Given the description of an element on the screen output the (x, y) to click on. 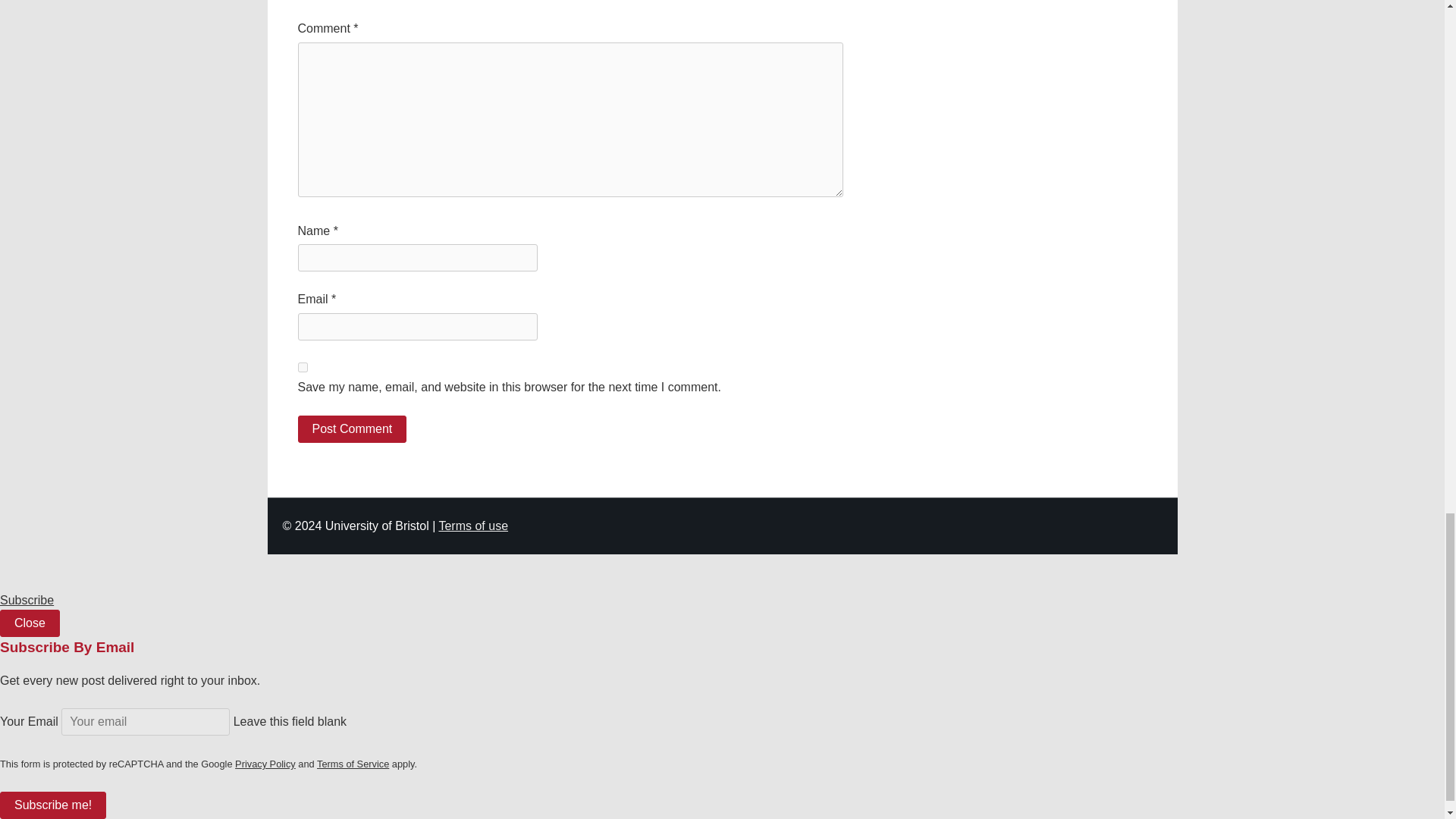
yes (302, 367)
Post Comment (351, 429)
Post Comment (351, 429)
